Given the description of an element on the screen output the (x, y) to click on. 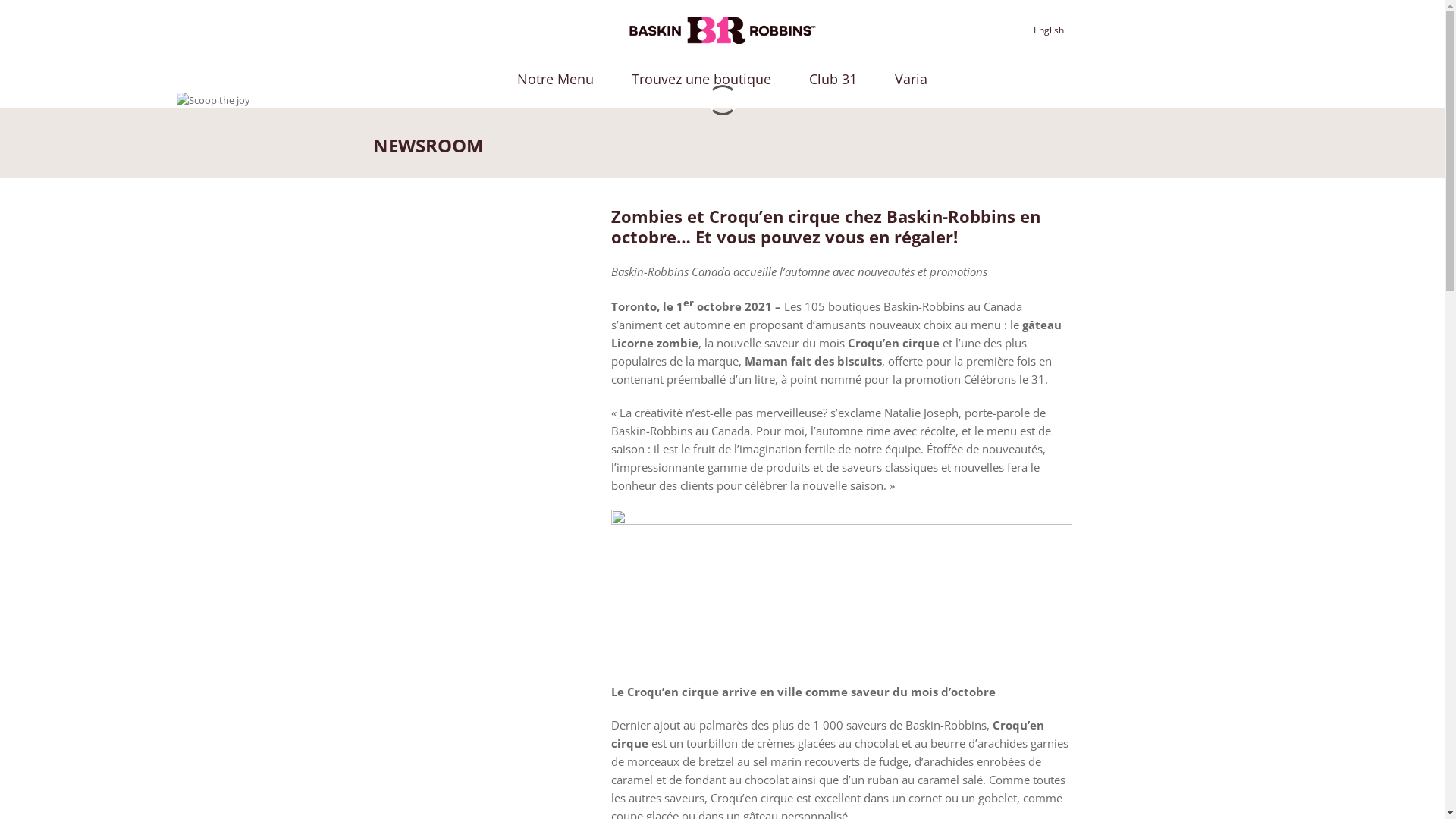
Trouvez une boutique Element type: text (701, 79)
Club 31 Element type: text (832, 79)
Notre Menu Element type: text (555, 79)
English Element type: text (1048, 29)
Tweets by @BaskinRobbinsCA Element type: text (446, 229)
Varia Element type: text (910, 79)
Baskin Robbins FR Element type: hover (722, 30)
